Given the description of an element on the screen output the (x, y) to click on. 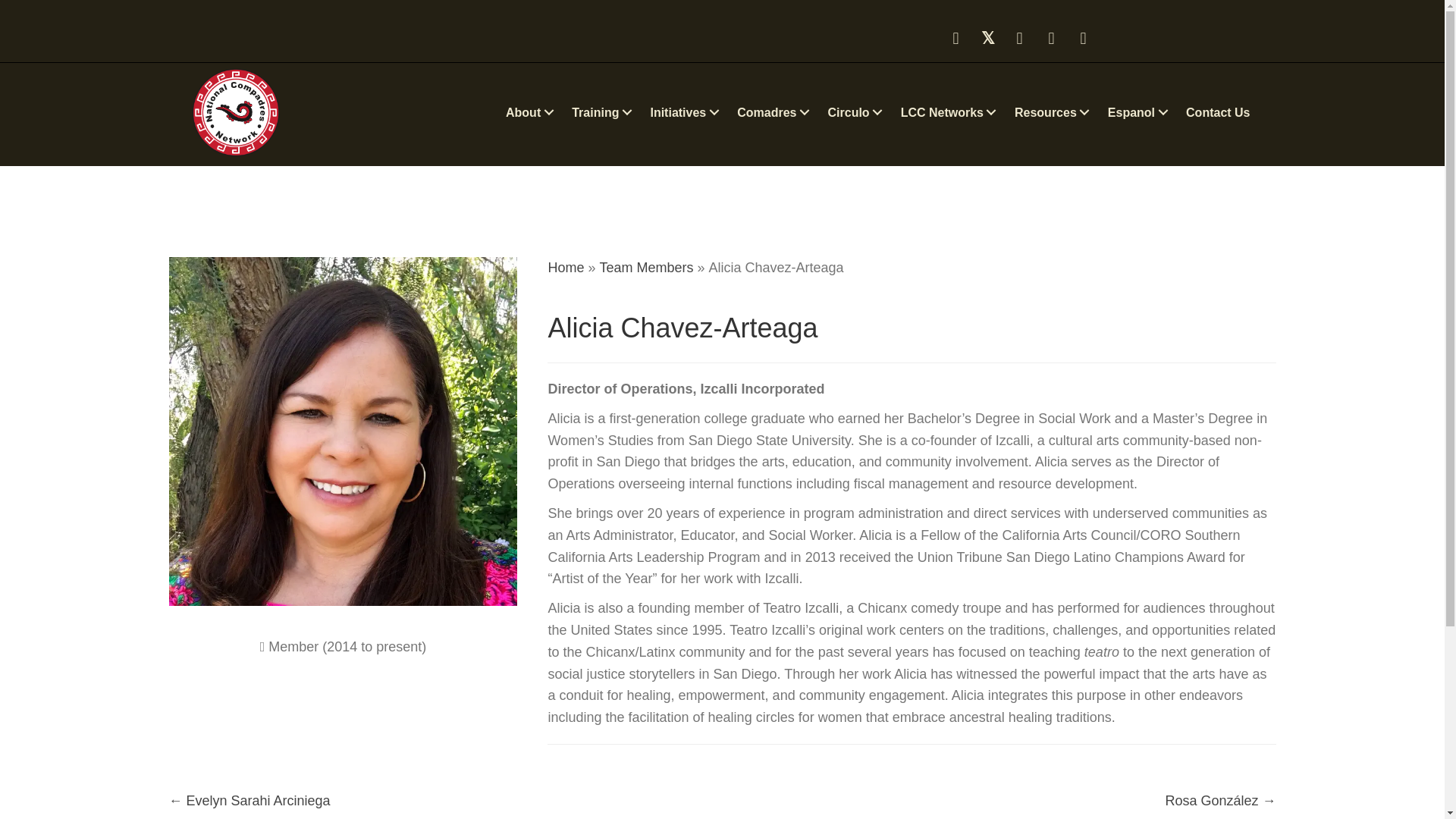
YouTube (1083, 38)
LCC Networks (950, 112)
About (531, 112)
Twitter (987, 38)
Circulo (857, 112)
Instagram (1051, 38)
Training (603, 112)
Comadres (775, 112)
Initiatives (686, 112)
Picture1 (235, 112)
